Given the description of an element on the screen output the (x, y) to click on. 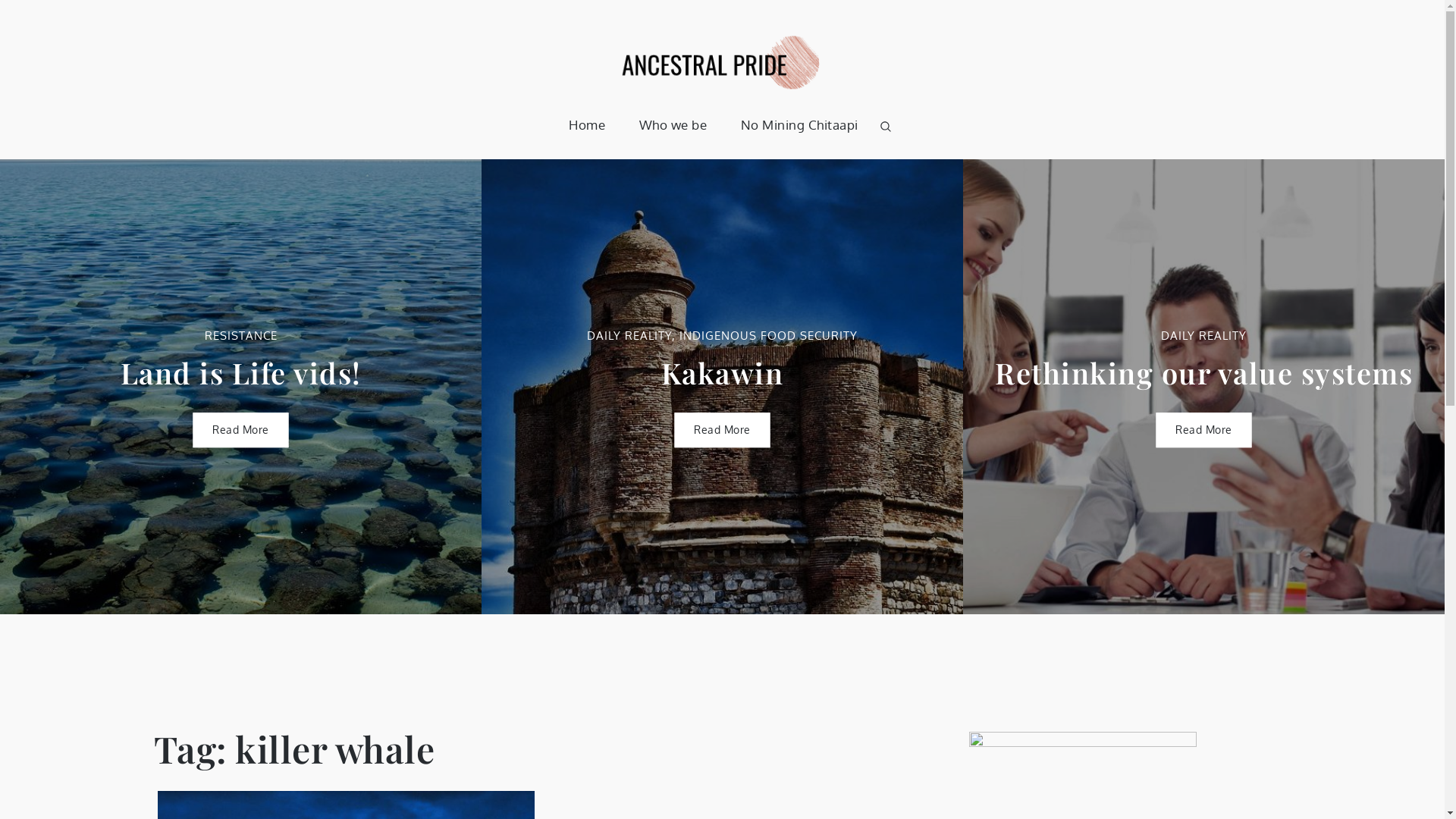
Read More Element type: text (1203, 429)
Read More Element type: text (240, 429)
DAILY REALITY Element type: text (628, 335)
Kakawin Element type: text (722, 372)
No Mining Chitaapi Element type: text (798, 125)
RESISTANCE Element type: text (240, 335)
Read More Element type: text (722, 429)
Rethinking our value systems Element type: text (1203, 372)
Home Element type: text (586, 125)
Ancestral Pride Element type: text (901, 114)
Who we be Element type: text (672, 125)
INDIGENOUS FOOD SECURITY Element type: text (768, 335)
Land is Life vids! Element type: text (239, 372)
DAILY REALITY Element type: text (1203, 335)
